Given the description of an element on the screen output the (x, y) to click on. 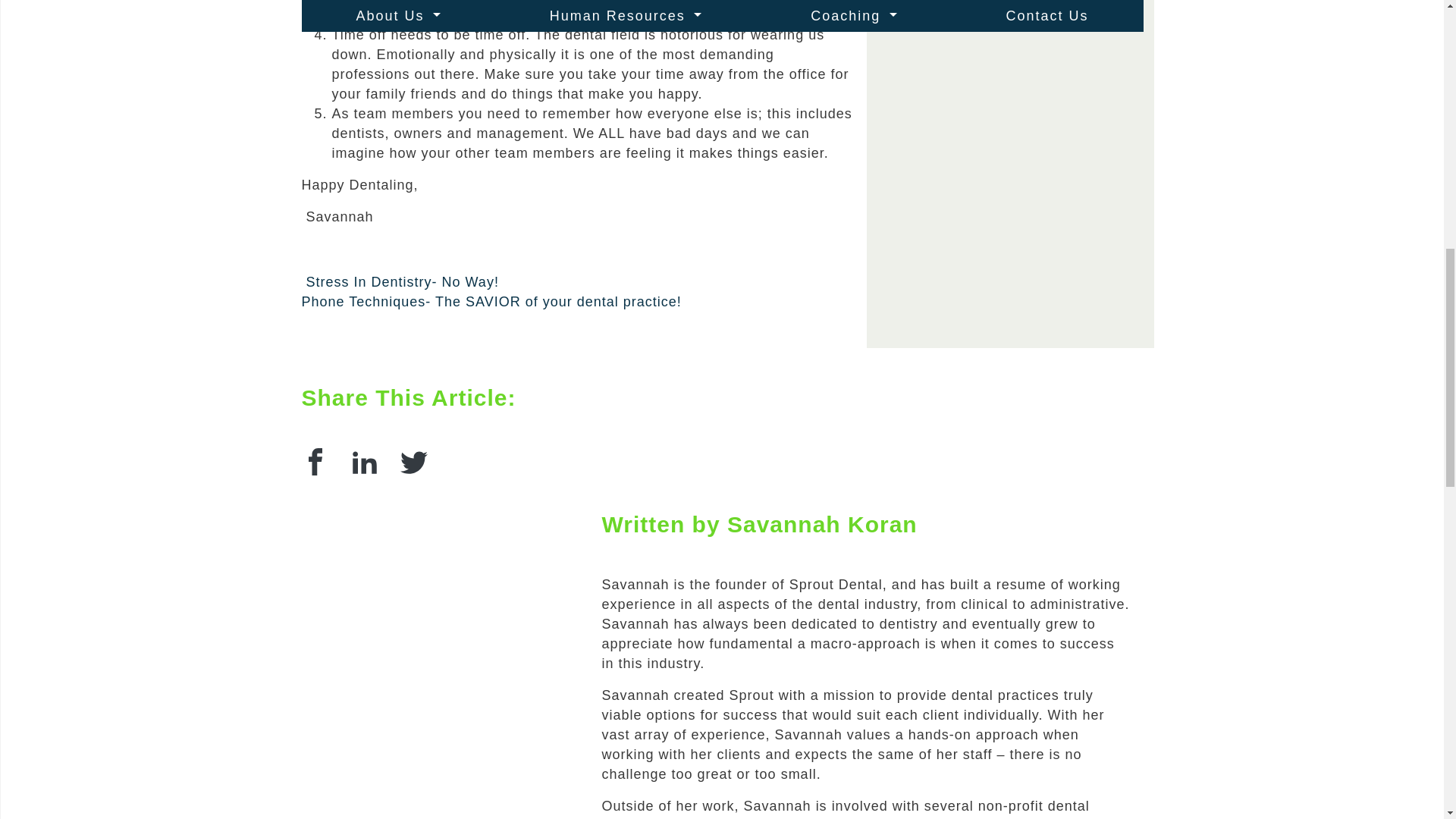
Phone Techniques- The SAVIOR of your dental practice!  (493, 301)
 Stress In Dentistry- No Way! (400, 281)
